Given the description of an element on the screen output the (x, y) to click on. 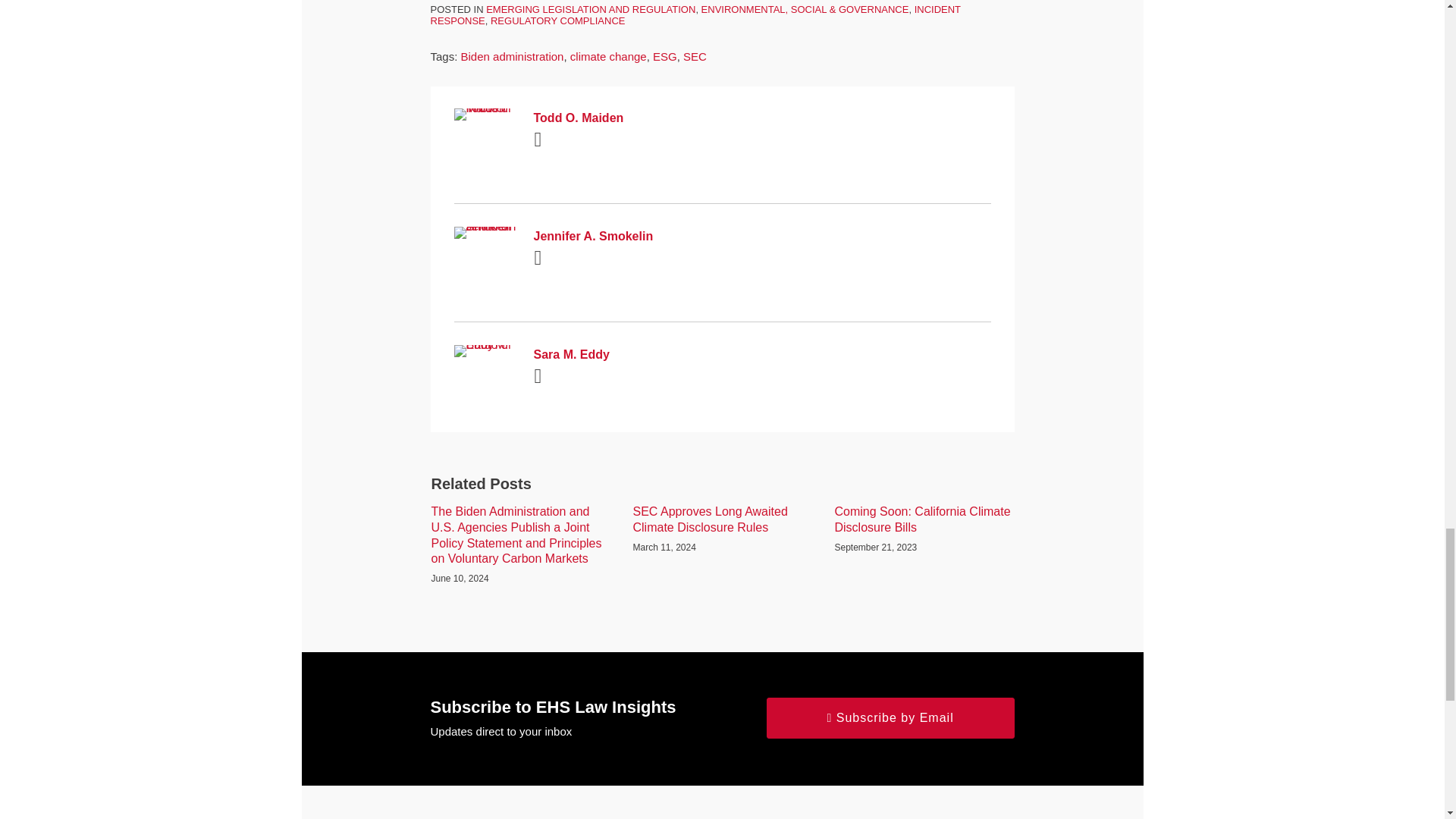
Biden administration (512, 56)
climate change (608, 56)
SEC (694, 56)
ESG (664, 56)
REGULATORY COMPLIANCE (557, 20)
EMERGING LEGISLATION AND REGULATION (590, 9)
INCIDENT RESPONSE (695, 15)
